Given the description of an element on the screen output the (x, y) to click on. 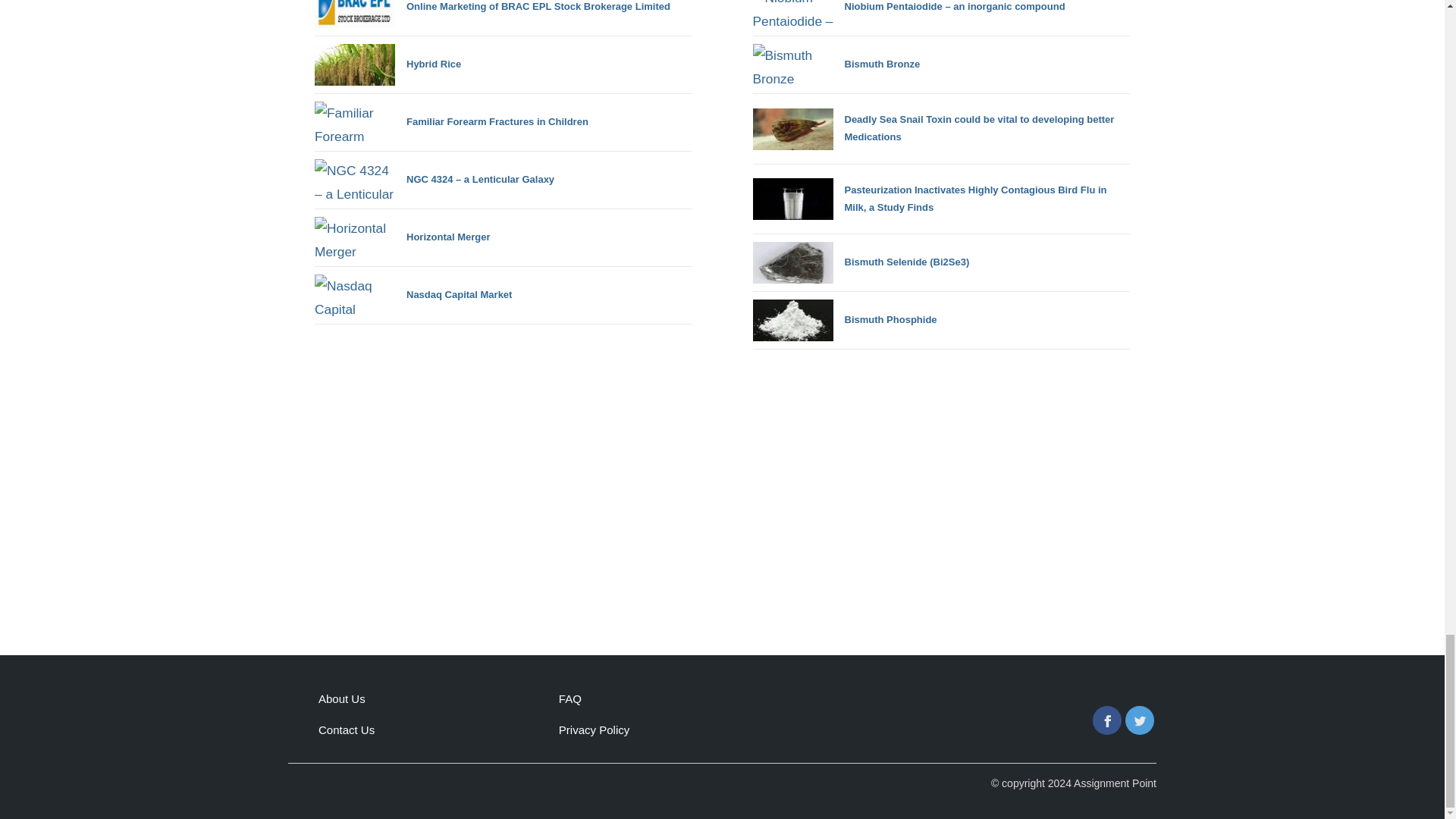
Hybrid Rice (387, 64)
Nasdaq Capital Market (413, 295)
Online Marketing of BRAC EPL Stock Brokerage Limited (491, 13)
About Us (341, 698)
Contact Us (346, 729)
Bismuth Bronze (836, 64)
Horizontal Merger (402, 237)
Bismuth Phosphide (844, 320)
